Given the description of an element on the screen output the (x, y) to click on. 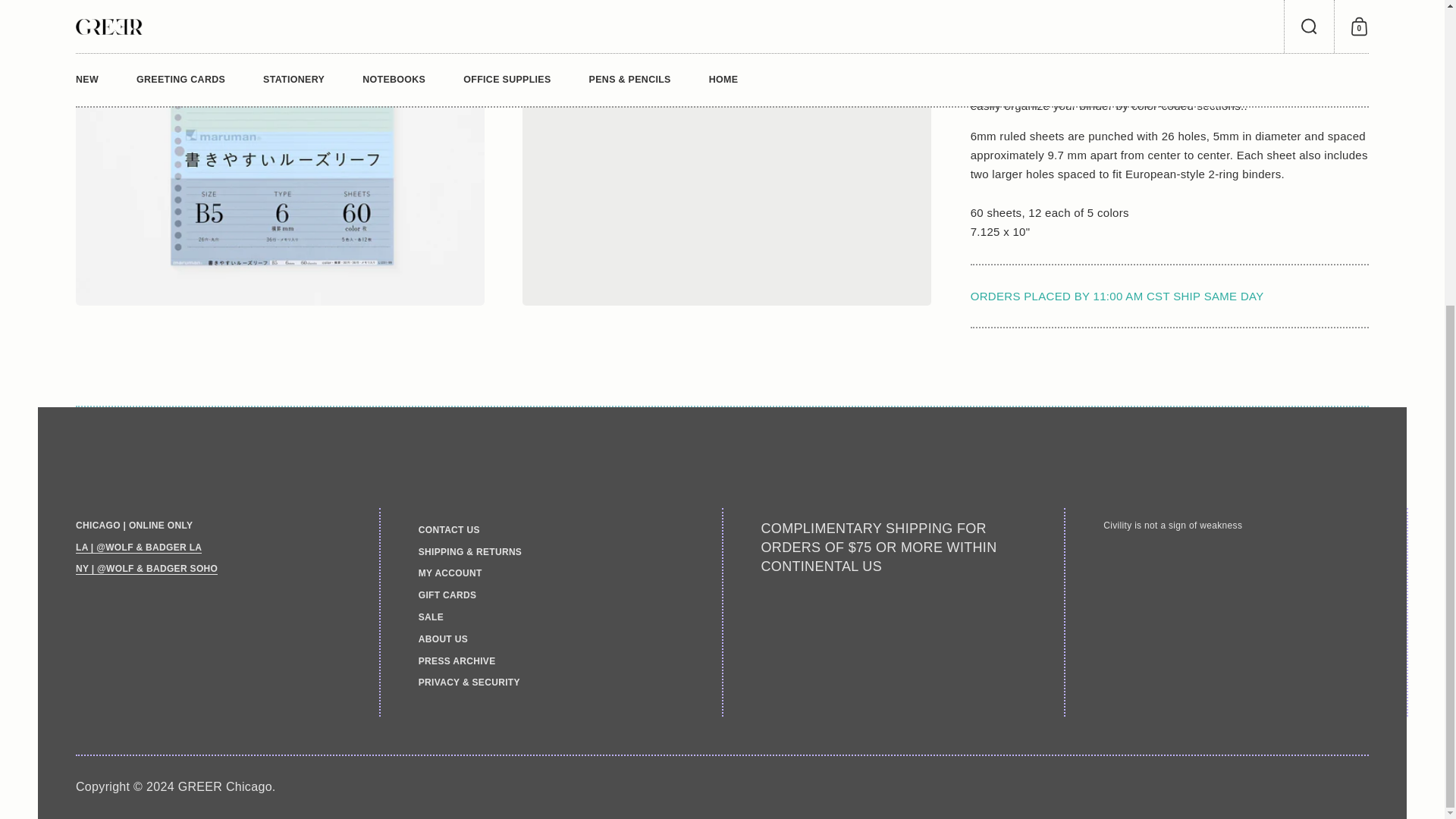
About Us (145, 568)
About Us (138, 547)
